Given the description of an element on the screen output the (x, y) to click on. 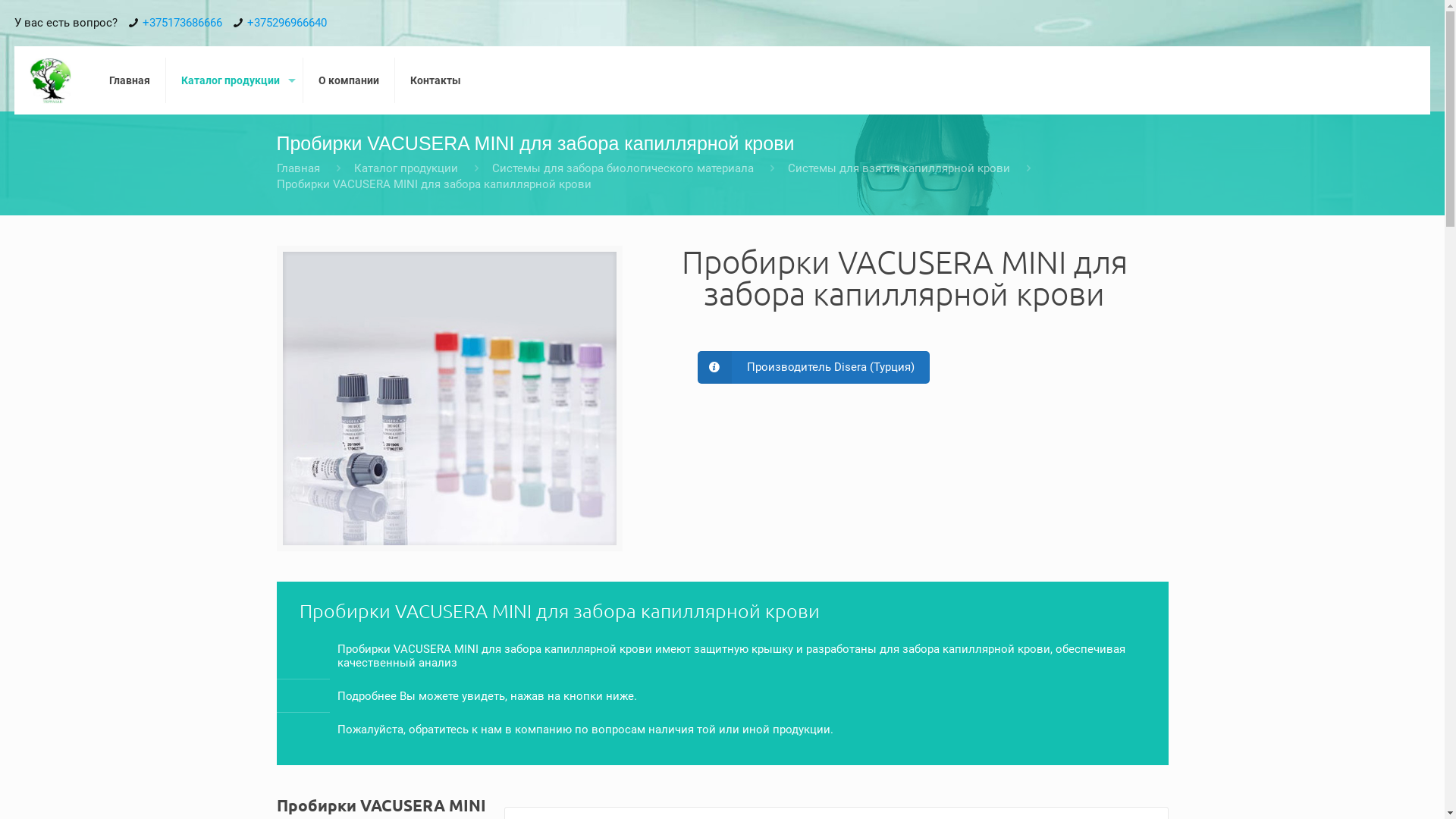
+375296966640 Element type: text (286, 22)
+375173686666 Element type: text (182, 22)
